Given the description of an element on the screen output the (x, y) to click on. 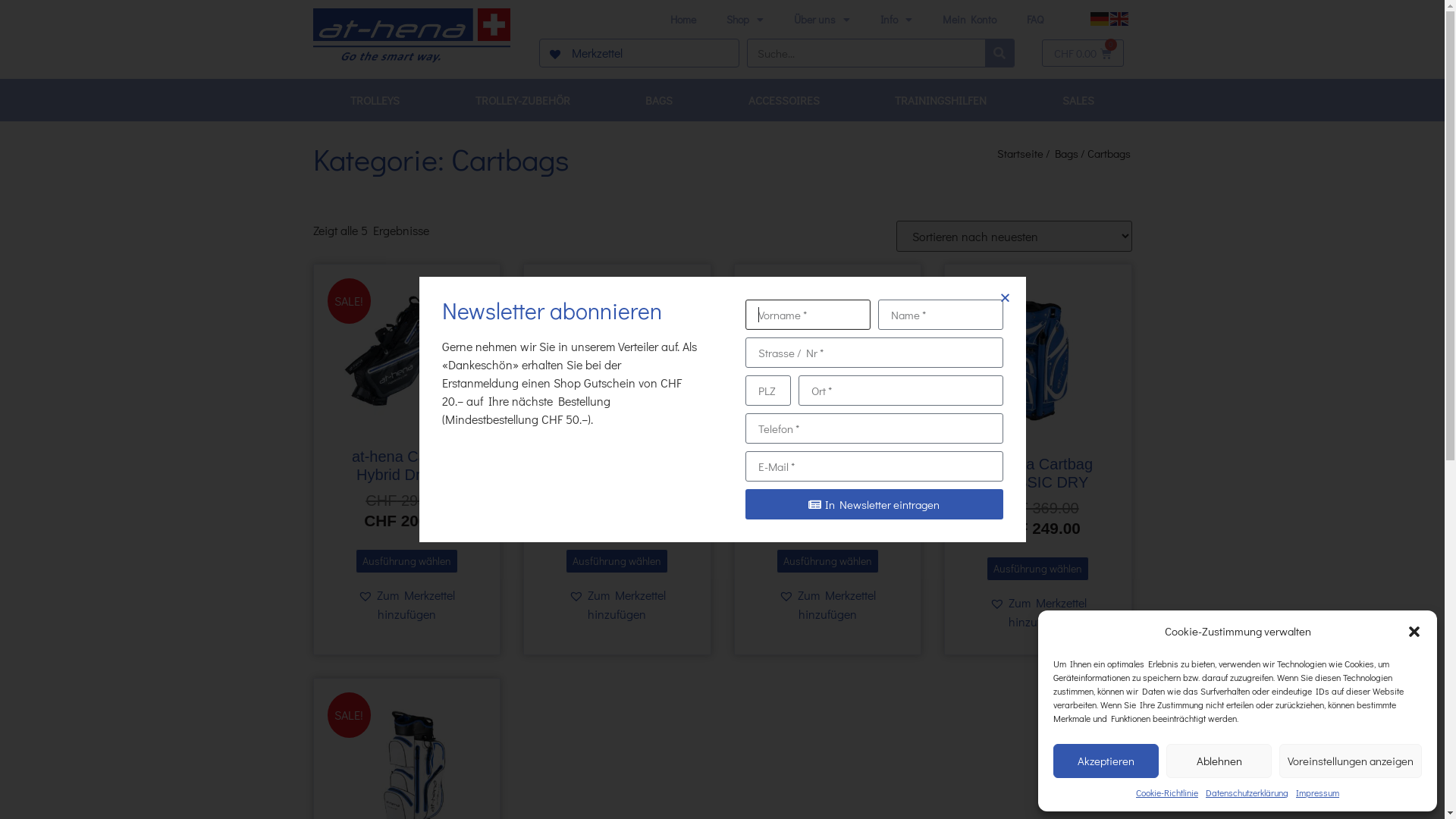
Shop Element type: text (744, 19)
SALES Element type: text (1078, 99)
Home Element type: text (683, 19)
Cookie-Richtlinie Element type: text (1166, 792)
FAQ Element type: text (1034, 19)
SALE!
at-hena Cartbag Hybrid Dry Lite
CHF 295.00
CHF 206.00 Element type: text (406, 408)
SALE!
at-hena Cartbag Silent Ultra Dry
CHF 399.00
CHF 299.00 Element type: text (616, 408)
Ablehnen Element type: text (1218, 760)
In Newsletter eintragen Element type: text (873, 504)
Impressum Element type: text (1317, 792)
Info Element type: text (896, 19)
German Element type: hover (1100, 17)
SALE!
at-hena Cartbag
CLASSIC DRY
CHF 369.00
CHF 249.00 Element type: text (1037, 411)
BAGS Element type: text (659, 99)
Startseite Element type: text (1020, 153)
English Element type: hover (1119, 17)
ACCESSOIRES Element type: text (783, 99)
TRAININGSHILFEN Element type: text (940, 99)
Akzeptieren Element type: text (1105, 760)
Bags Element type: text (1066, 153)
CHF 0.00
0 Element type: text (1082, 52)
Voreinstellungen anzeigen Element type: text (1350, 760)
Merkzettel Element type: text (584, 52)
Mein Konto Element type: text (969, 19)
TROLLEYS Element type: text (374, 99)
